Given the description of an element on the screen output the (x, y) to click on. 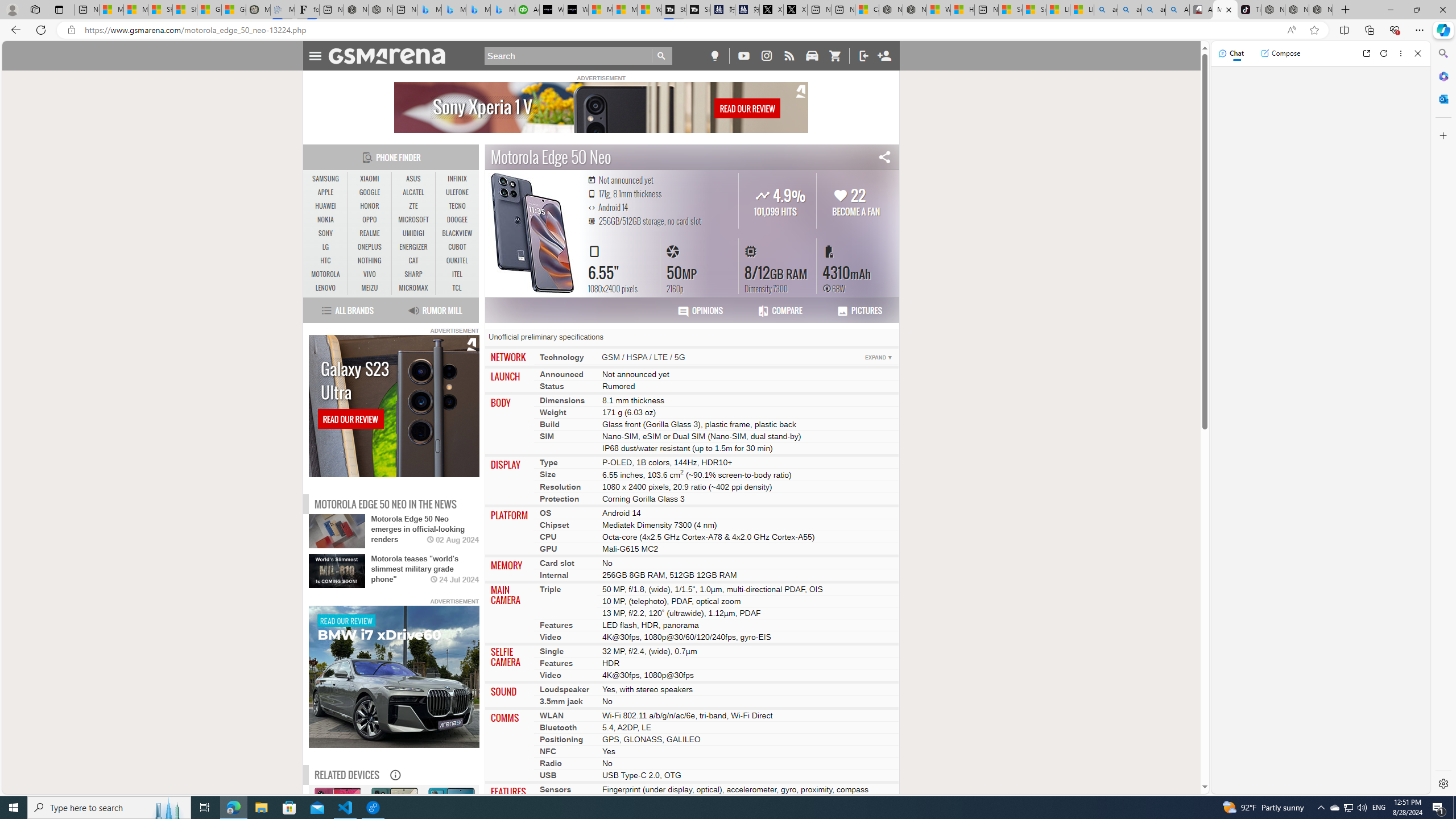
More options (1401, 53)
UMIDIGI (413, 233)
To get missing image descriptions, open the context menu. (393, 676)
BLACKVIEW (457, 233)
GOOGLE (369, 192)
CPU (548, 536)
TCL (457, 287)
Sensors (556, 788)
ALCATEL (413, 192)
MICROMAX (413, 287)
Wildlife - MSN (938, 9)
